Given the description of an element on the screen output the (x, y) to click on. 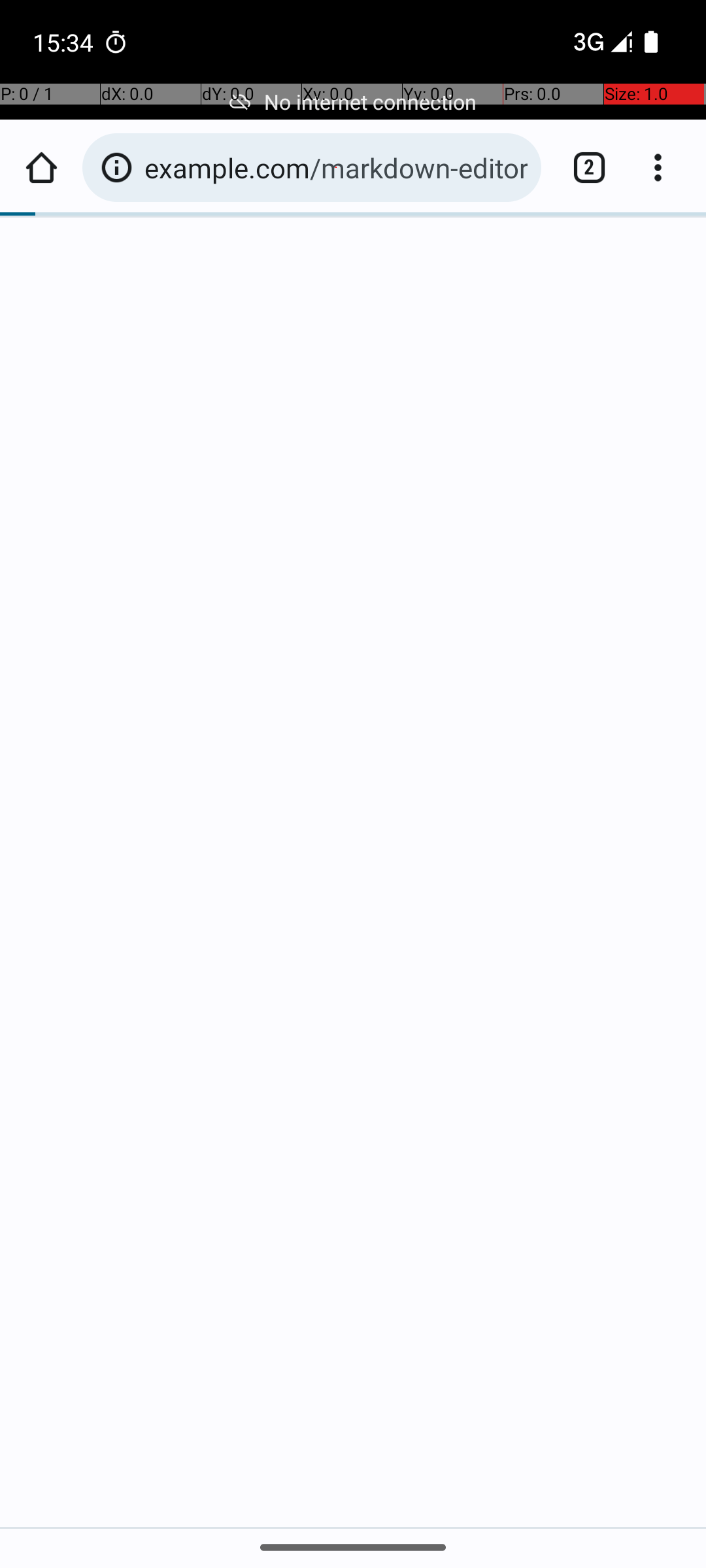
example.com/markdown-editor-guide Element type: android.widget.EditText (335, 167)
